Given the description of an element on the screen output the (x, y) to click on. 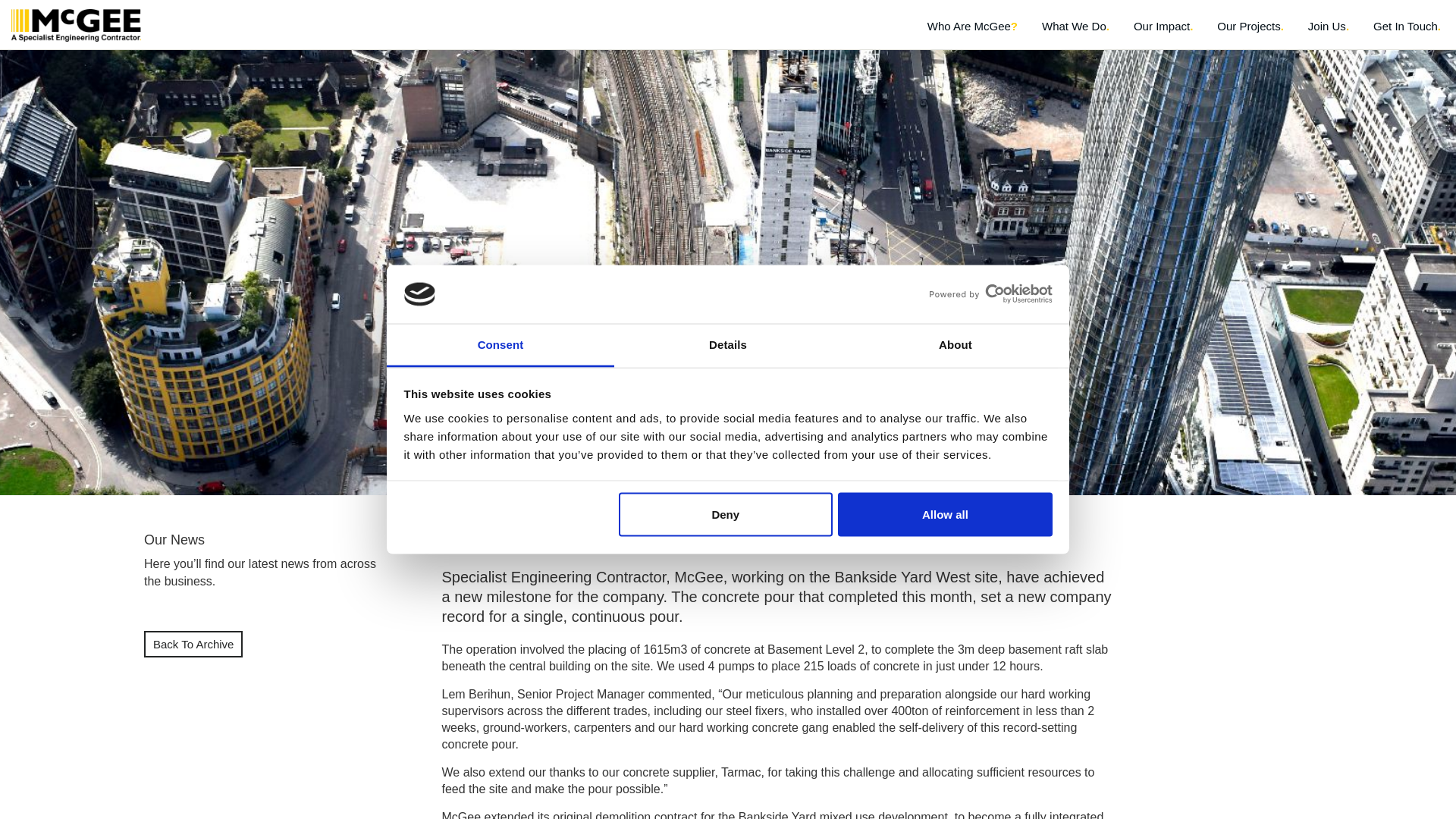
Allow all (944, 515)
Consent (500, 344)
What We Do (1075, 32)
Deny (725, 515)
Who Are McGee? (972, 32)
Who Are McGee? (972, 32)
About (954, 344)
Details (727, 344)
